Given the description of an element on the screen output the (x, y) to click on. 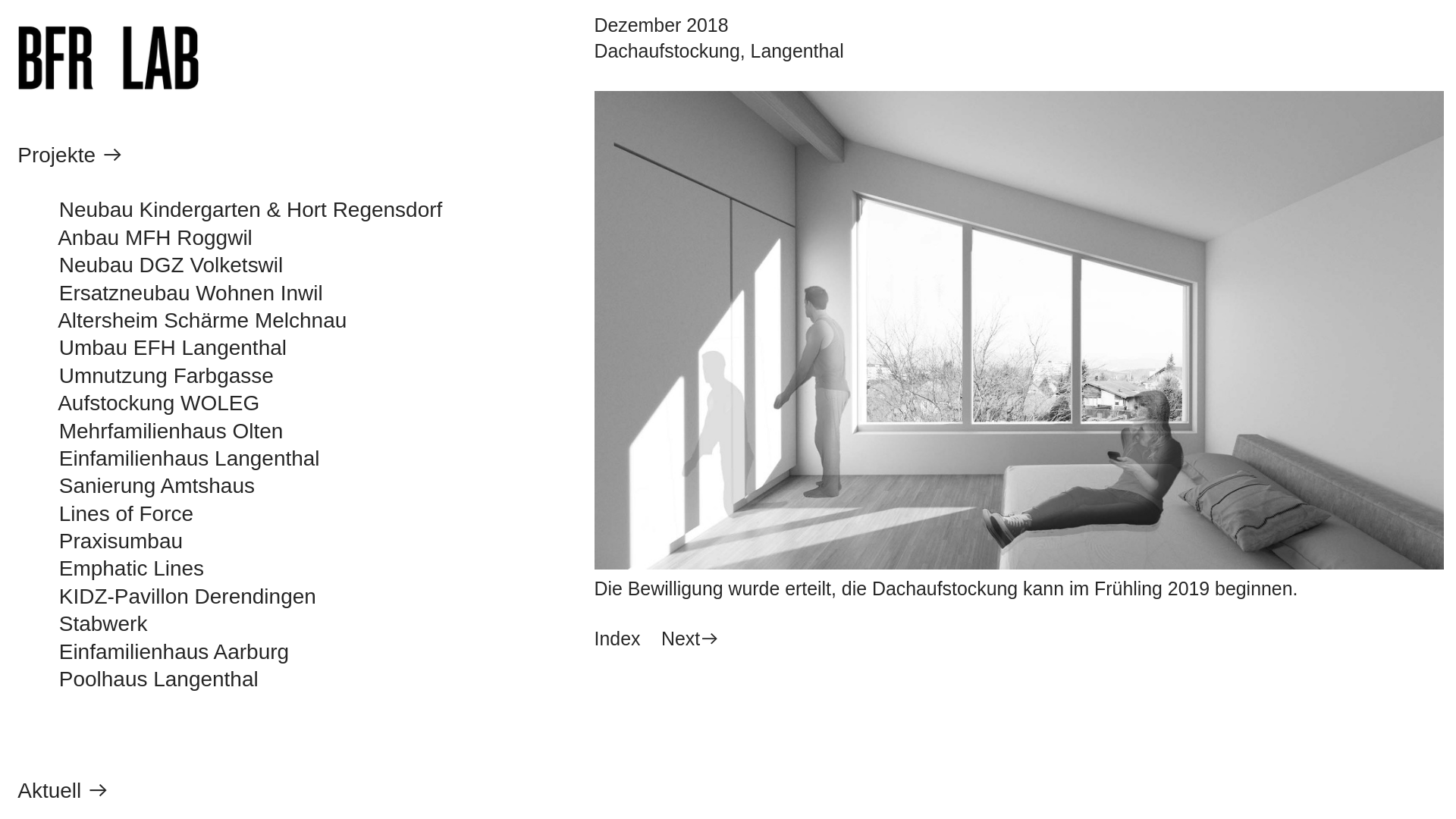
Mehrfamilienhaus Olten Element type: text (171, 432)
       Lines of Force Element type: text (105, 514)
Neubau DGZ Volketswil Element type: text (171, 266)
Umnutzung Farbgasse Element type: text (166, 376)
       Praxisumbau Element type: text (99, 542)
       Einfamilienhaus Aarburg Element type: text (152, 652)
       KIDZ-Pavillon Derendingen Element type: text (166, 597)
Anbau MFH Roggwil Element type: text (154, 238)
Index Element type: text (617, 638)
Einfamilienhaus Langenthal Element type: text (189, 459)
       Emphatic Lines Element type: text (110, 569)
Aufstockung WOLEG Element type: text (158, 404)
       Stabwerk Element type: text (82, 624)
Ersatzneubau Wohnen Inwil Element type: text (191, 294)
      Poolhaus Langenthal Element type: text (140, 680)
Sanierung Amtshaus Element type: text (156, 486)
Neubau Kindergarten & Hort Regensdorf Element type: text (250, 210)
Umbau EFH Langenthal Element type: text (172, 348)
